Given the description of an element on the screen output the (x, y) to click on. 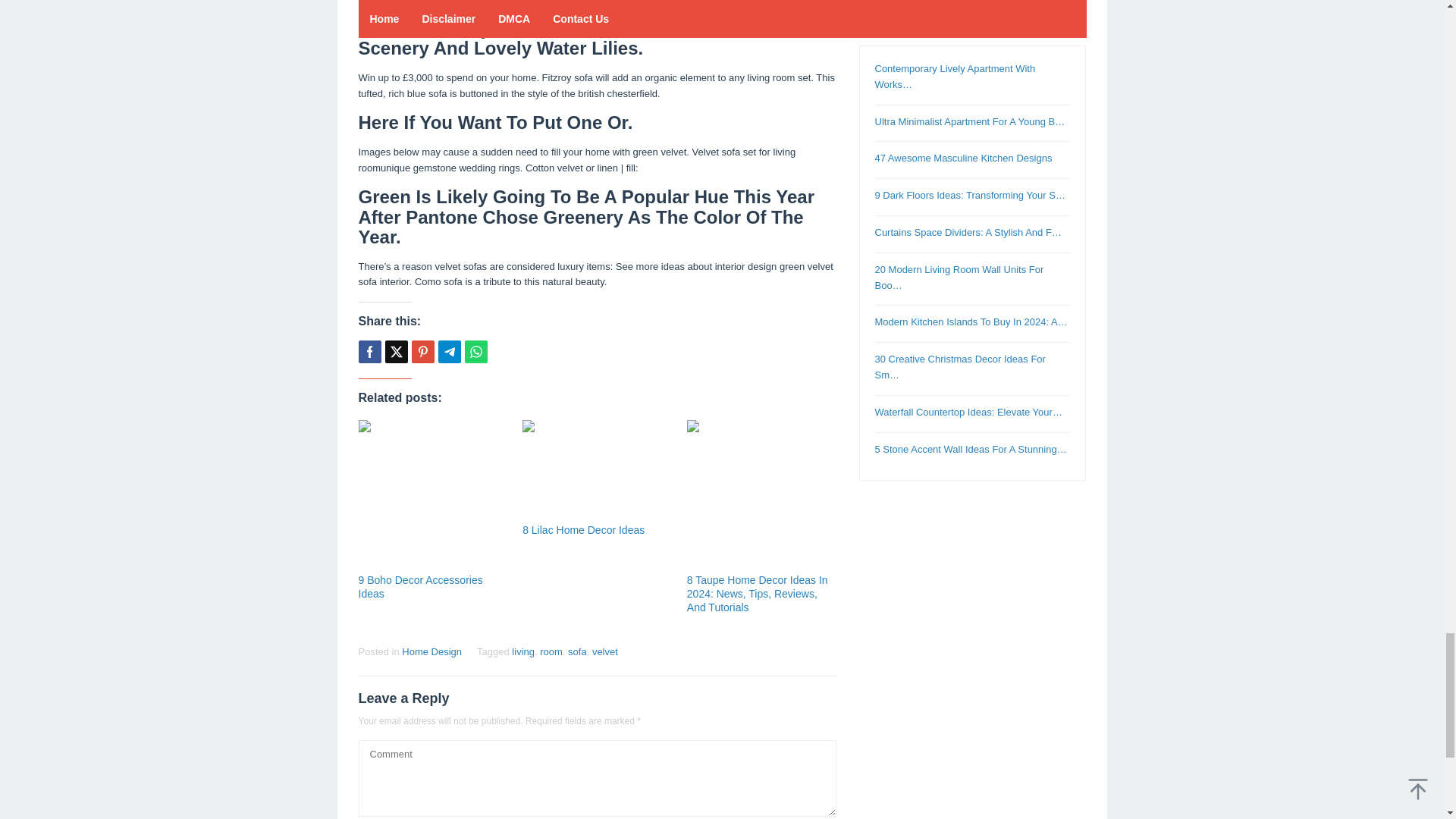
Permalink to: 9 Boho Decor Accessories Ideas (419, 586)
sofa (576, 651)
Share this (369, 351)
Permalink to: 9 Boho Decor Accessories Ideas (432, 494)
8 Lilac Home Decor Ideas (583, 530)
living (523, 651)
Pin this (421, 351)
9 Boho Decor Accessories Ideas (419, 586)
Permalink to: 8 Lilac Home Decor Ideas (596, 469)
Telegram Share (449, 351)
velvet (604, 651)
Home Design (431, 651)
Permalink to: 8 Lilac Home Decor Ideas (583, 530)
